Given the description of an element on the screen output the (x, y) to click on. 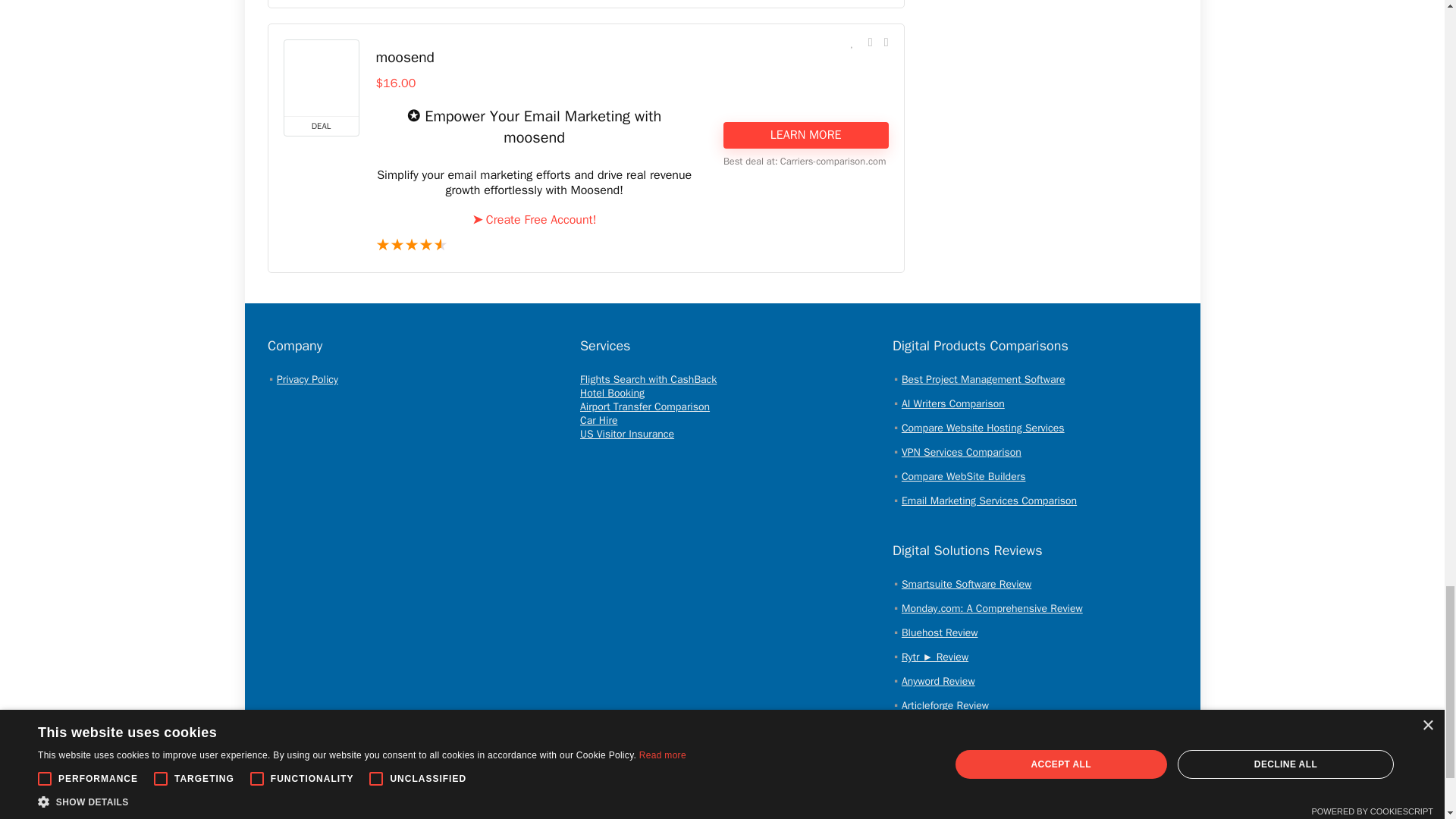
Rated 9.1 out of 10 (534, 245)
